Given the description of an element on the screen output the (x, y) to click on. 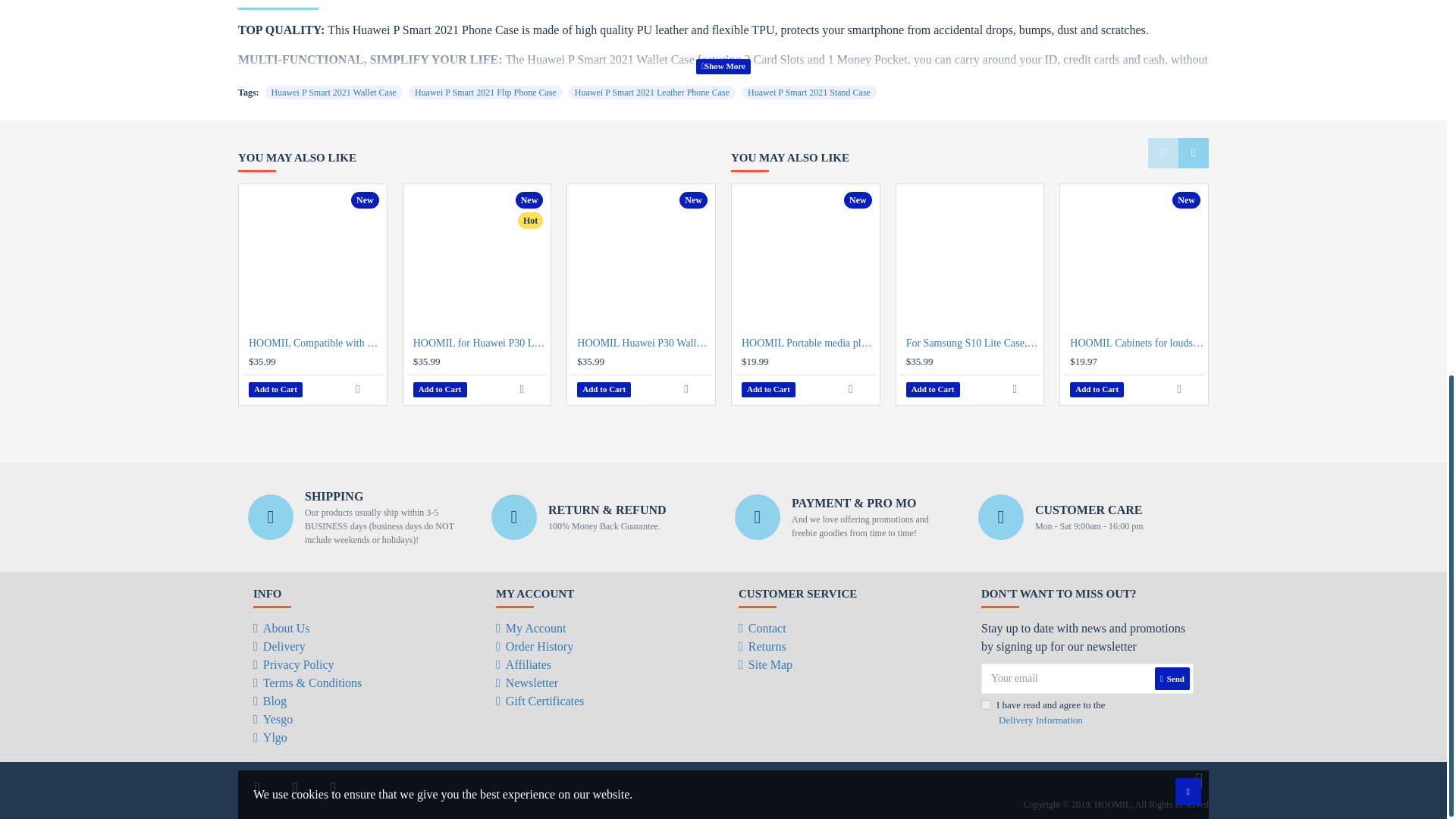
1 (986, 705)
